Given the description of an element on the screen output the (x, y) to click on. 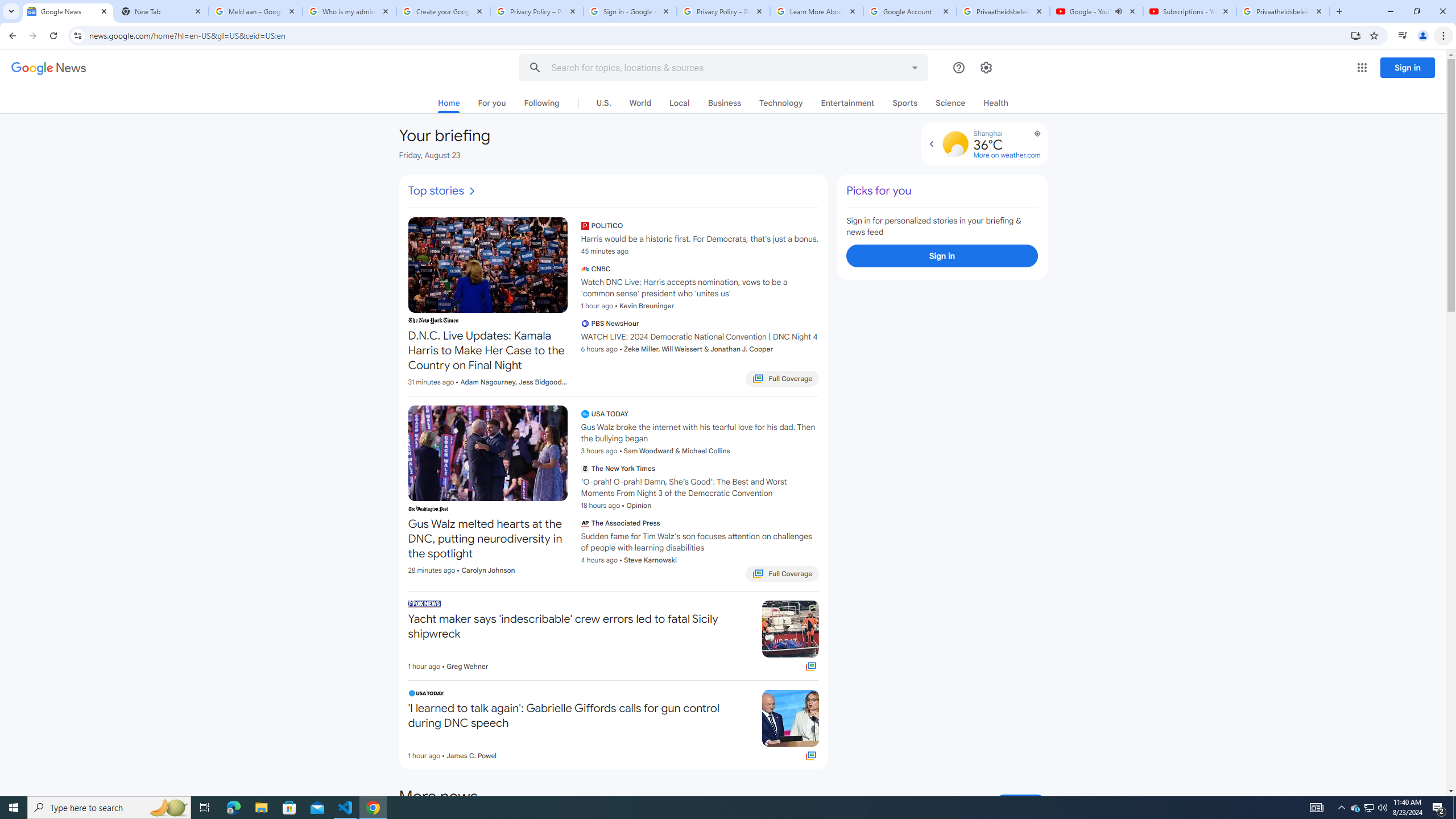
AutomationID: i10 (471, 190)
Google Account (909, 11)
U.S. (603, 102)
Install Google News (1355, 35)
Google News (67, 11)
More on weather.com (1006, 154)
